Given the description of an element on the screen output the (x, y) to click on. 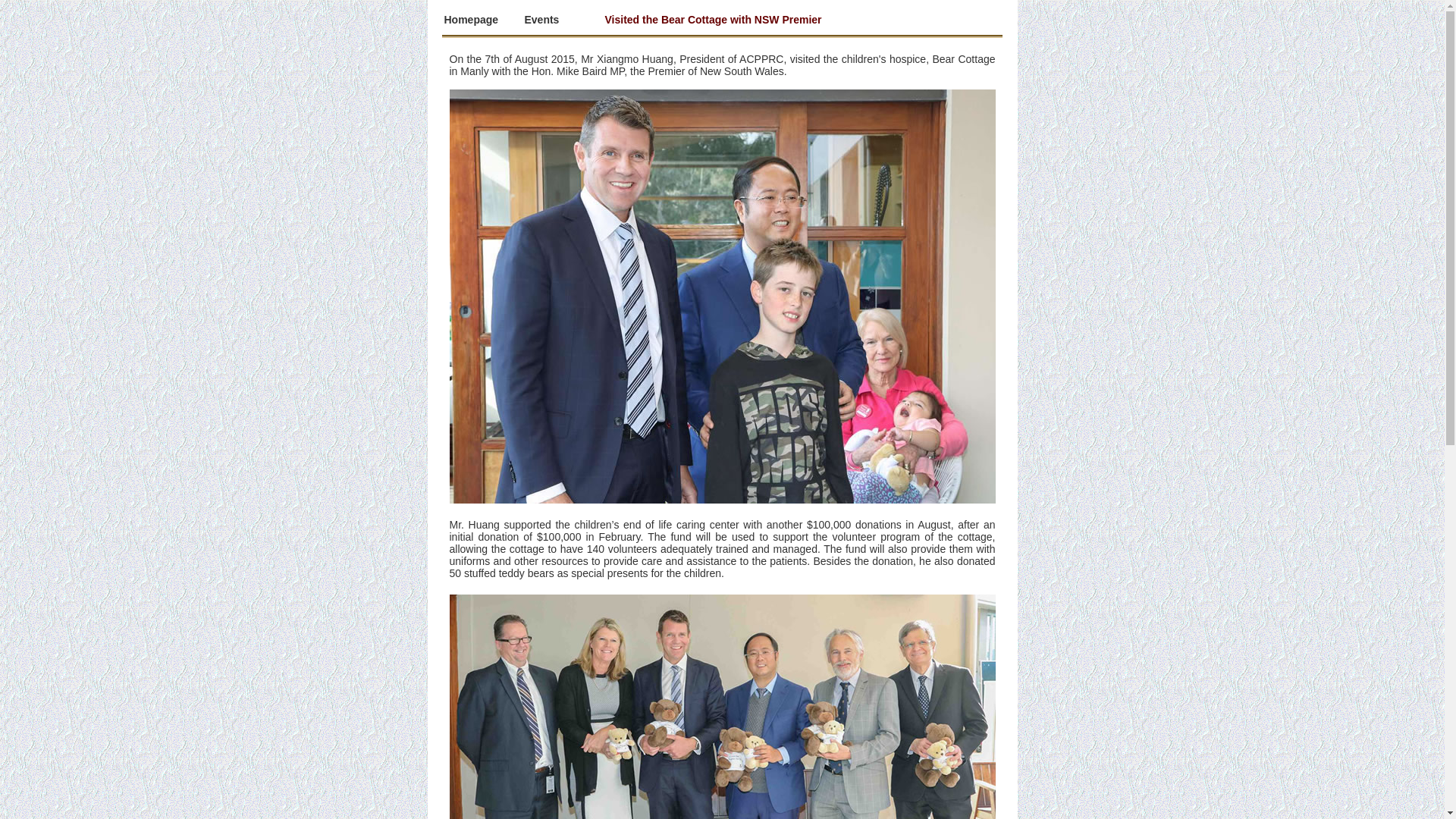
Homepage Element type: text (471, 19)
Events Element type: text (541, 19)
